Given the description of an element on the screen output the (x, y) to click on. 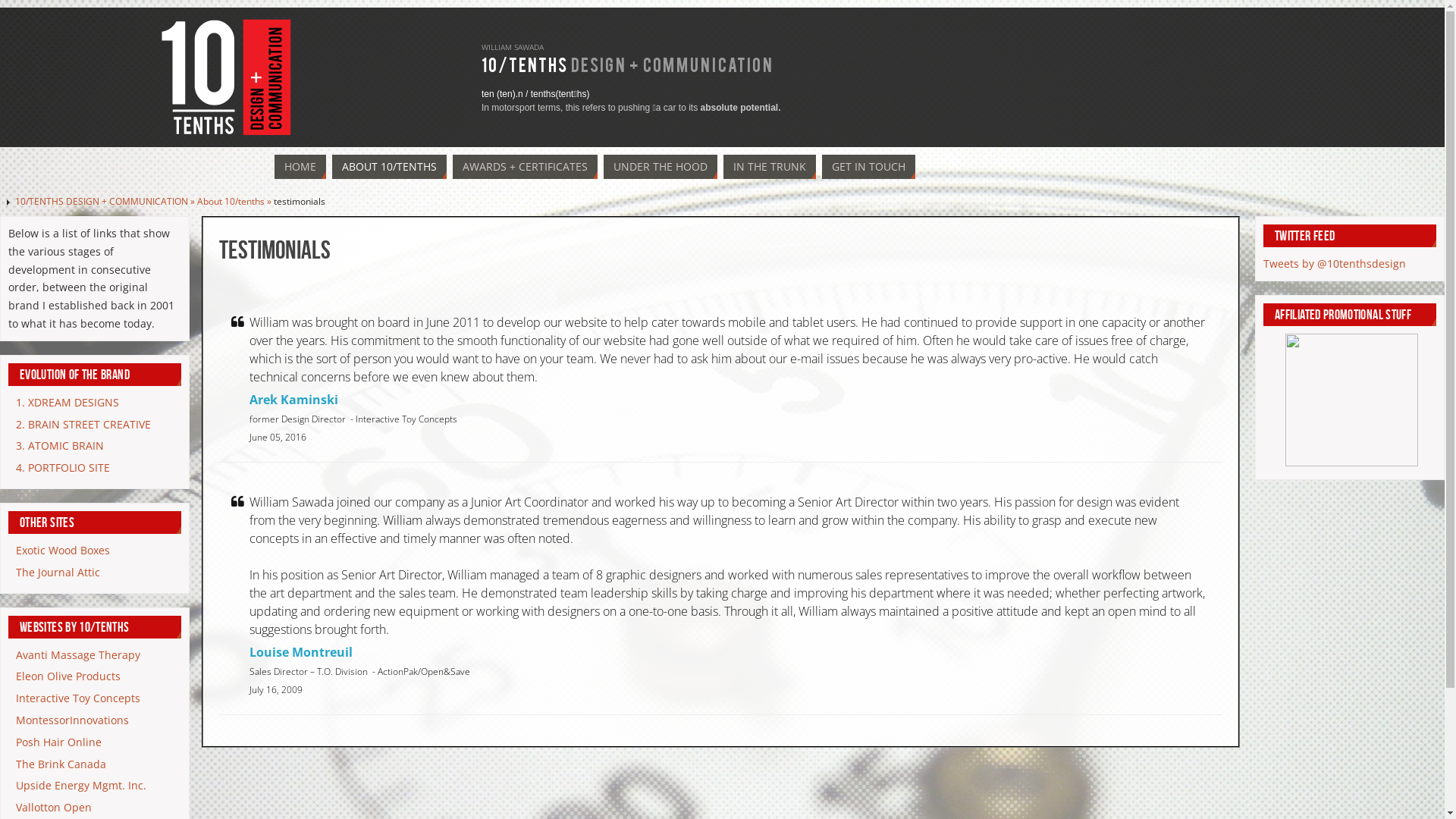
The Brink Canada Element type: text (60, 763)
2. BRAIN STREET CREATIVE Element type: text (82, 424)
1. XDREAM DESIGNS Element type: text (67, 402)
3. ATOMIC BRAIN Element type: text (59, 445)
AWARDS + CERTIFICATES Element type: text (524, 166)
Exotic Wood Boxes Element type: text (62, 549)
Avanti Massage Therapy Element type: text (77, 654)
Vallotton Open Element type: text (53, 807)
Posh Hair Online Element type: text (58, 741)
Interactive Toy Concepts Element type: text (406, 418)
GET IN TOUCH Element type: text (868, 166)
Eleon Olive Products Element type: text (67, 675)
ABOUT 10/TENTHS Element type: text (389, 166)
MontessorInnovations Element type: text (71, 719)
The Journal Attic Element type: text (57, 571)
HOME Element type: text (300, 166)
Upside Energy Mgmt. Inc. Element type: text (80, 785)
4. PORTFOLIO SITE Element type: text (62, 467)
VectorStock, the worlds best only vector graphics collection Element type: hover (1351, 462)
UNDER THE HOOD Element type: text (660, 166)
Interactive Toy Concepts Element type: text (77, 697)
Tweets by @10tenthsdesign Element type: text (1334, 263)
IN THE TRUNK Element type: text (769, 166)
